Given the description of an element on the screen output the (x, y) to click on. 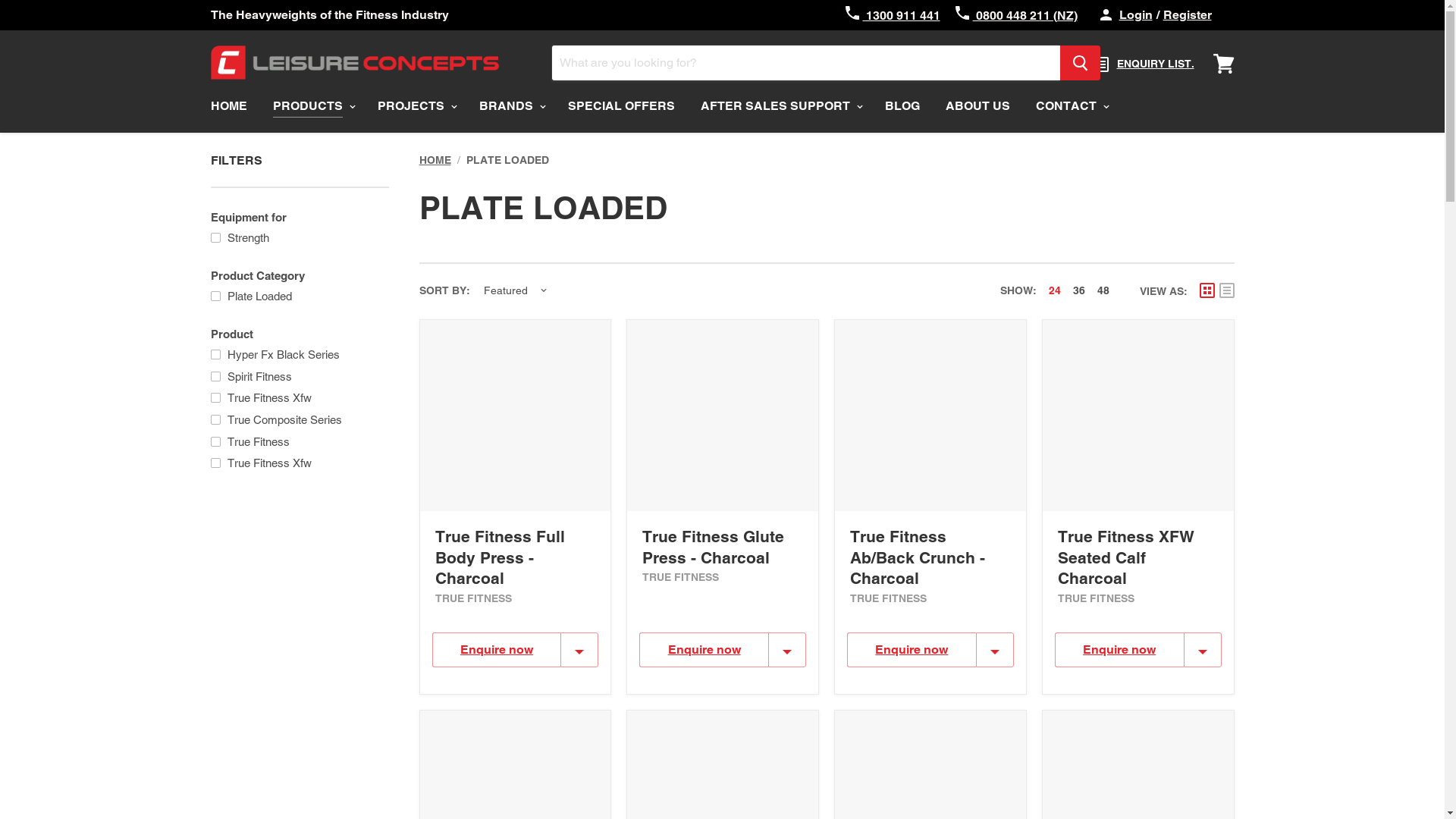
True Fitness Xfw Element type: text (297, 397)
48 Element type: text (1102, 290)
Spirit Fitness Element type: text (297, 375)
True Composite Series Element type: text (297, 418)
True Fitness Ab/Back Crunch - Charcoal Element type: text (917, 557)
SPECIAL OFFERS Element type: text (621, 106)
True Fitness XFW Seated Calf Charcoal Element type: text (1125, 557)
Enquire now Element type: text (1118, 649)
1300 911 441 Element type: text (891, 15)
BRANDS Element type: text (509, 106)
24 Element type: text (1054, 290)
CONTACT Element type: text (1069, 106)
Login Element type: text (1135, 15)
PRODUCTS Element type: text (311, 106)
ABOUT US Element type: text (977, 106)
HOME Element type: text (227, 106)
ENQUIRY LIST. Element type: text (1143, 64)
BLOG Element type: text (902, 106)
36 Element type: text (1078, 290)
Strength Element type: text (297, 236)
Register Element type: text (1187, 15)
Enquire now Element type: text (496, 649)
Enquire now Element type: text (911, 649)
True Fitness Xfw Element type: text (297, 462)
True Fitness Element type: text (297, 440)
View cart Element type: text (1223, 61)
AFTER SALES SUPPORT Element type: text (778, 106)
0800 448 211 (NZ) Element type: text (1016, 15)
PROJECTS Element type: text (414, 106)
HOME Element type: text (434, 159)
True Fitness Full Body Press - Charcoal Element type: text (499, 557)
Plate Loaded Element type: text (297, 294)
Enquire now Element type: text (703, 649)
True Fitness Glute Press - Charcoal Element type: text (713, 547)
Hyper Fx Black Series Element type: text (297, 353)
